Given the description of an element on the screen output the (x, y) to click on. 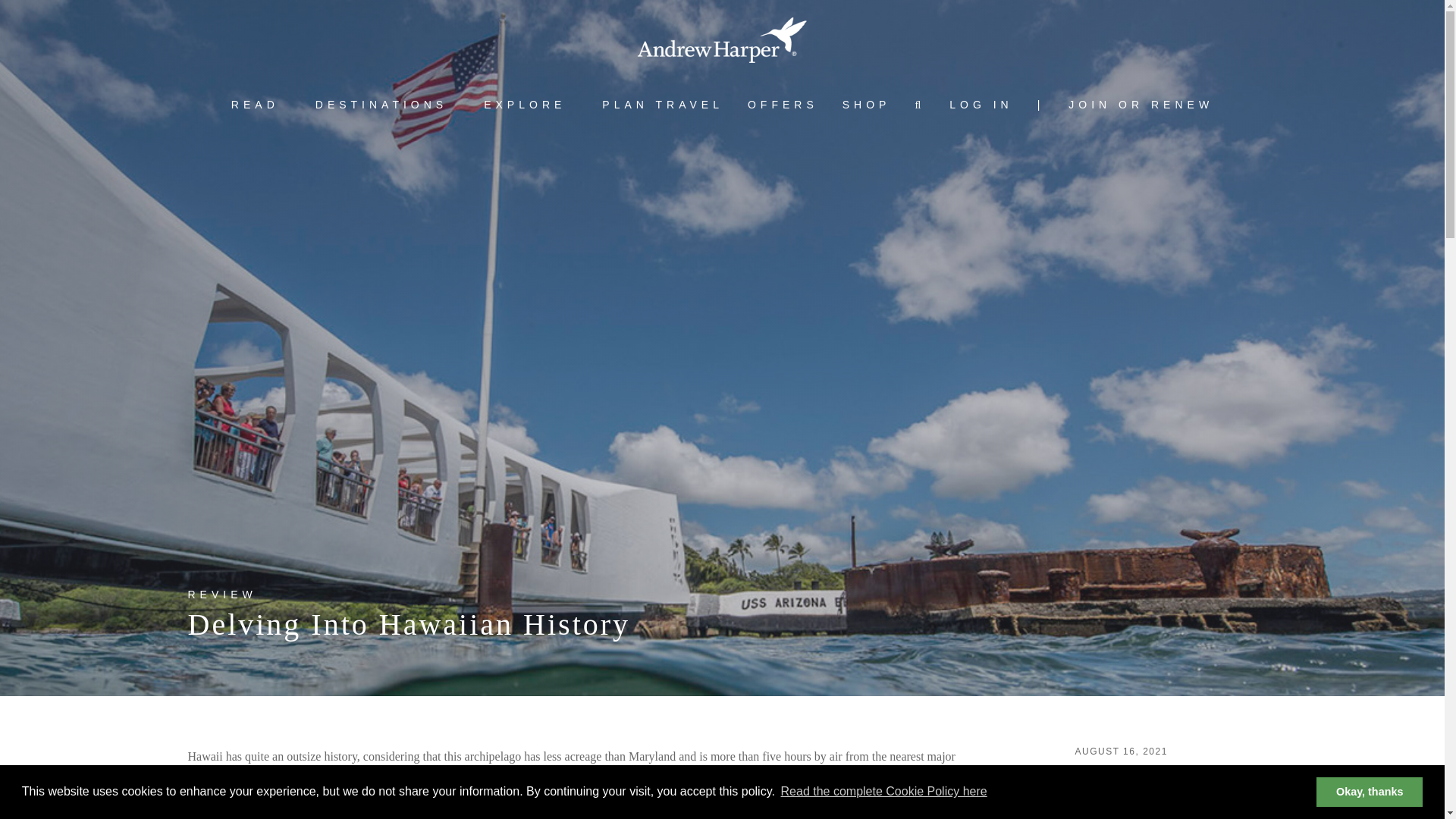
DESTINATIONS (380, 104)
Read the complete Cookie Policy here (883, 791)
Read (255, 104)
READ (255, 104)
Destinations (380, 104)
Okay, thanks (1369, 791)
